Given the description of an element on the screen output the (x, y) to click on. 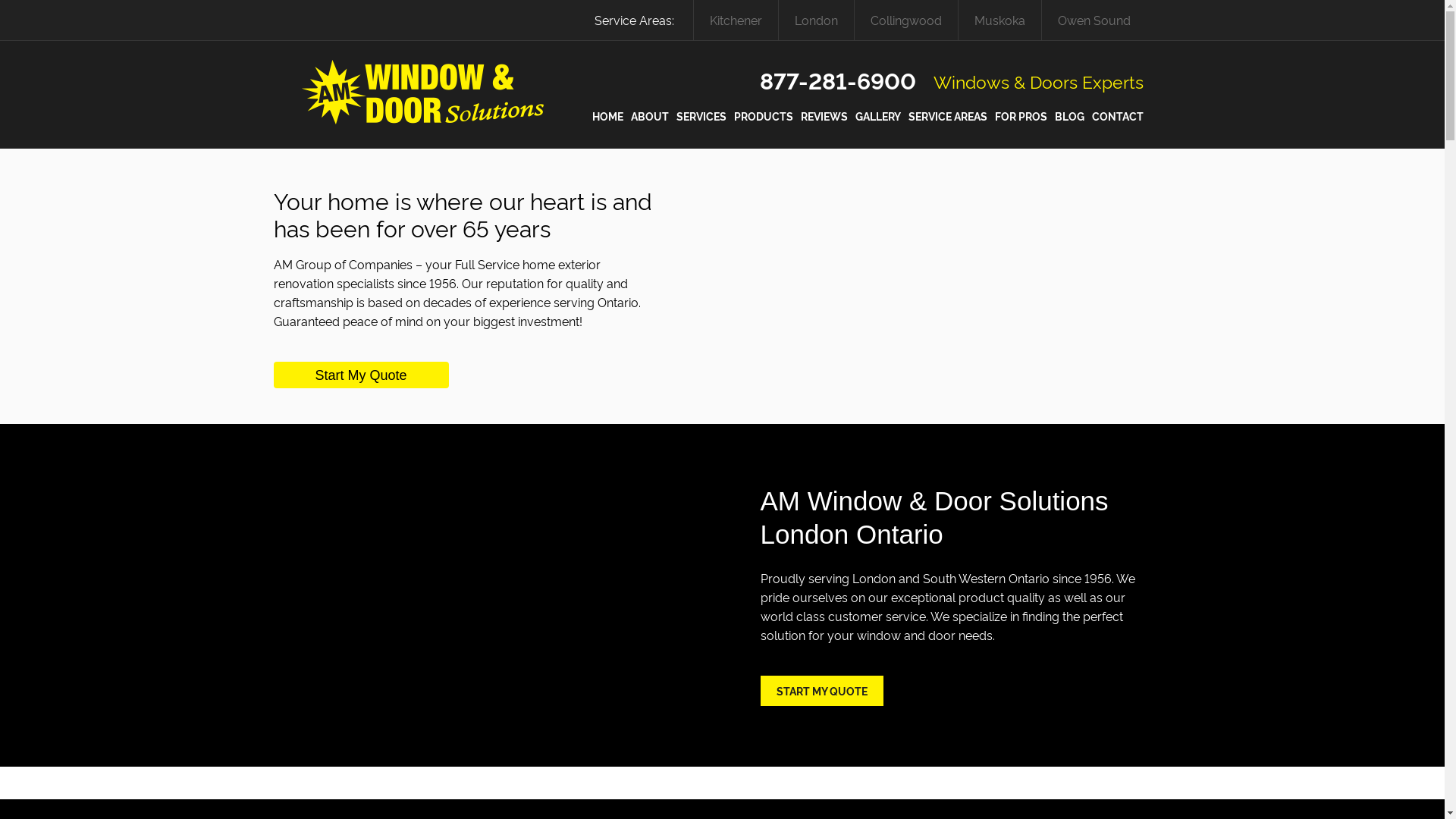
PRODUCTS Element type: text (763, 115)
London Element type: text (815, 20)
REVIEWS Element type: text (823, 115)
Muskoka Element type: text (998, 20)
SERVICES Element type: text (701, 115)
Owen Sound Element type: text (1092, 20)
ABOUT Element type: text (649, 115)
FOR PROS Element type: text (1020, 115)
SERVICE AREAS Element type: text (947, 115)
877-281-6900 Element type: text (822, 78)
GALLERY Element type: text (877, 115)
Start My Quote Element type: text (360, 374)
Kitchener Element type: text (735, 20)
CONTACT Element type: text (1117, 115)
HOME Element type: text (606, 115)
Collingwood Element type: text (905, 20)
BLOG Element type: text (1068, 115)
START MY QUOTE Element type: text (820, 690)
